Given the description of an element on the screen output the (x, y) to click on. 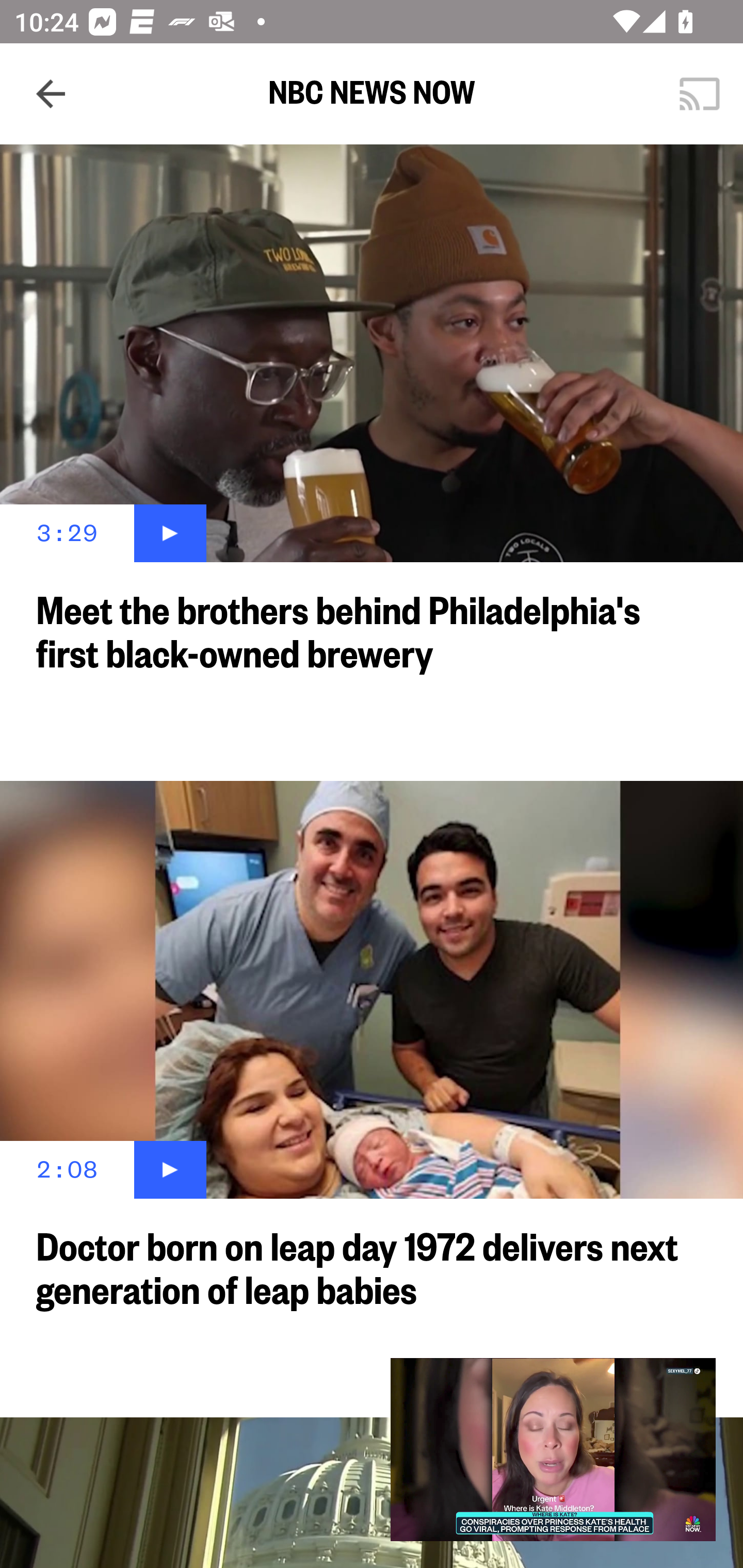
Navigate up (50, 93)
Cast. Disconnected (699, 93)
